Given the description of an element on the screen output the (x, y) to click on. 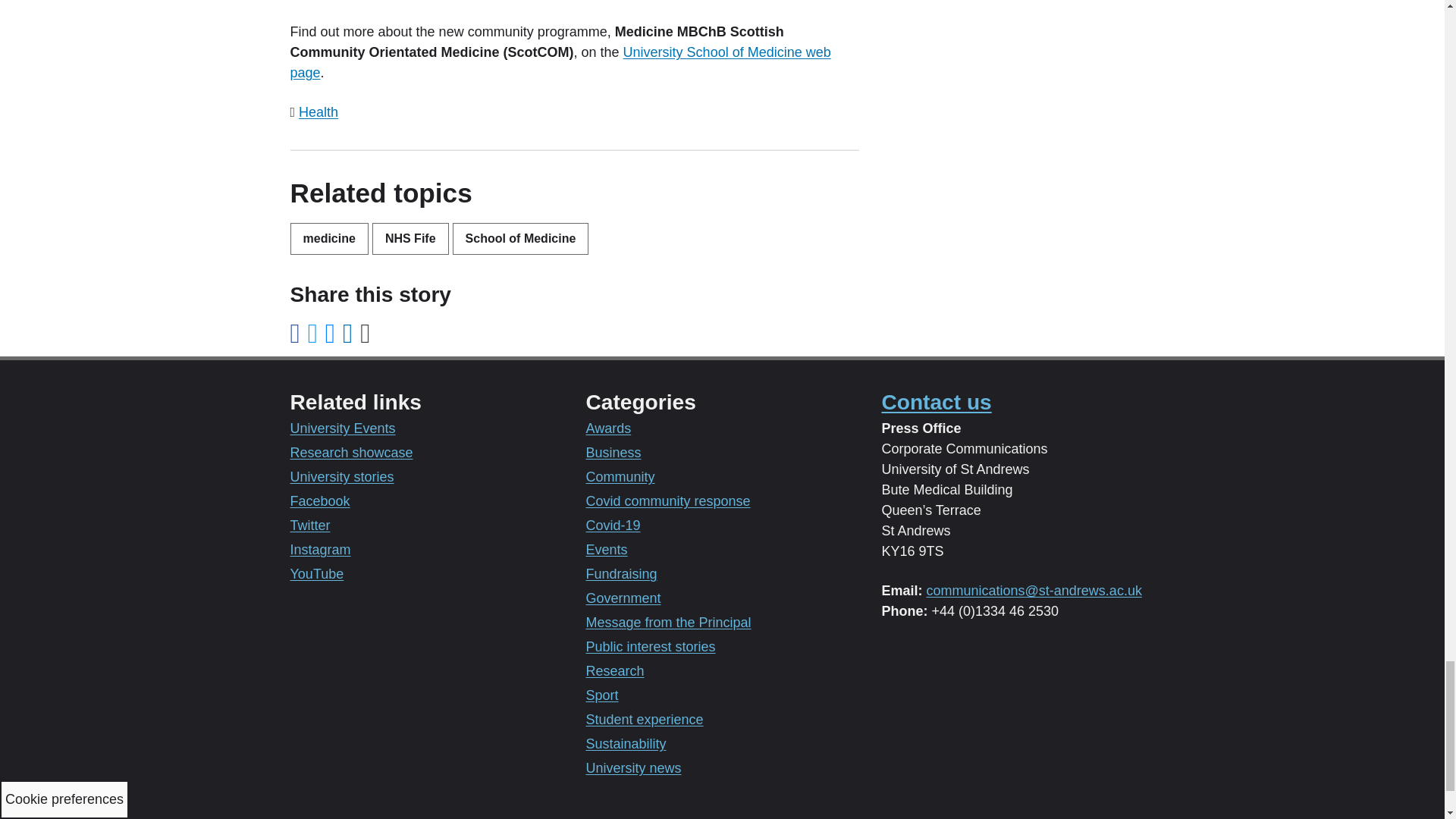
Health (317, 111)
University School of Medicine web page (559, 62)
NHS Fife (410, 238)
medicine (328, 238)
School of Medicine (520, 238)
